Given the description of an element on the screen output the (x, y) to click on. 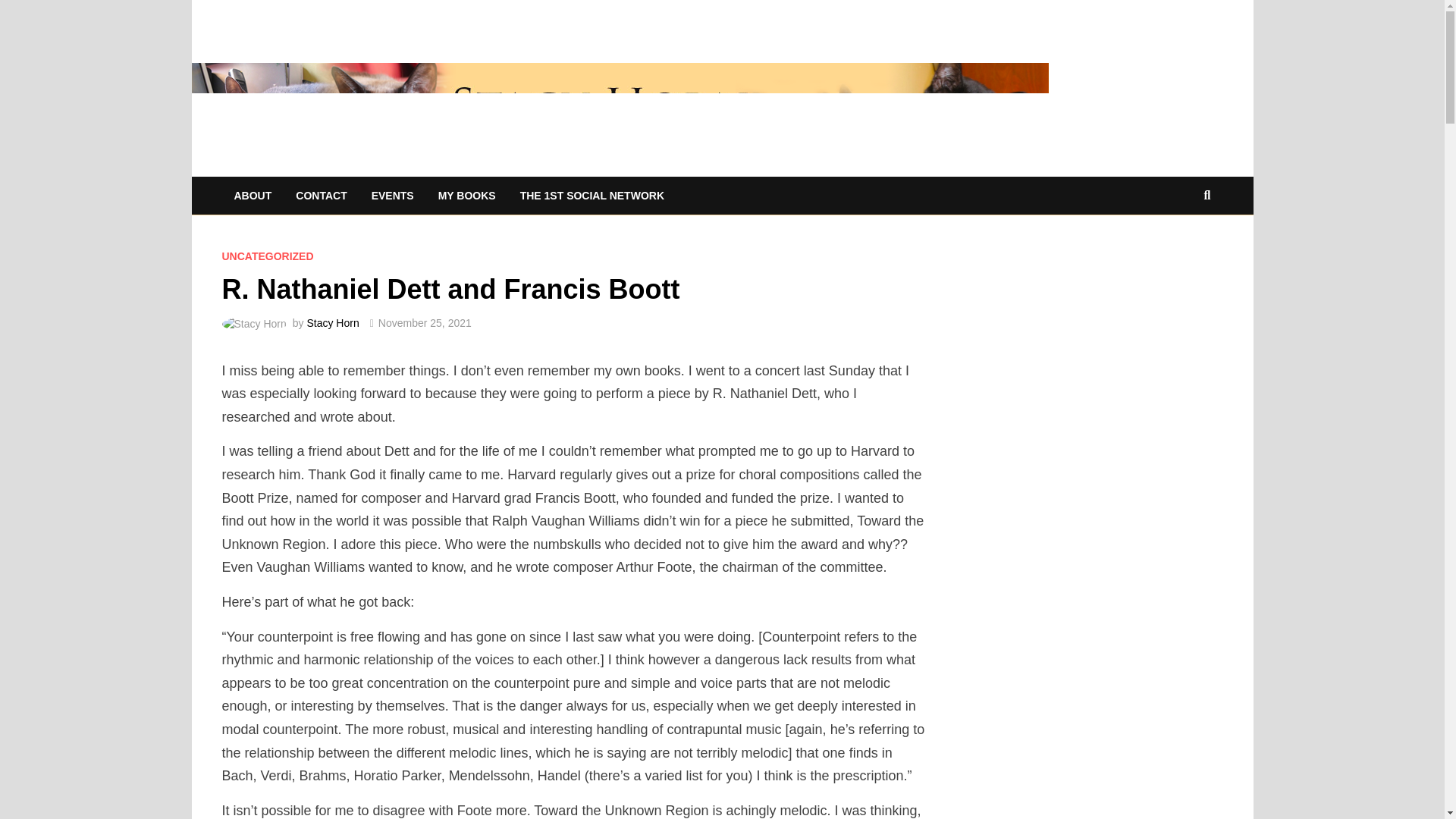
ABOUT (252, 195)
MY BOOKS (467, 195)
THE 1ST SOCIAL NETWORK (592, 195)
Stacy Horn (619, 118)
Stacy Horn (331, 322)
November 25, 2021 (424, 322)
UNCATEGORIZED (267, 256)
EVENTS (392, 195)
CONTACT (320, 195)
